Given the description of an element on the screen output the (x, y) to click on. 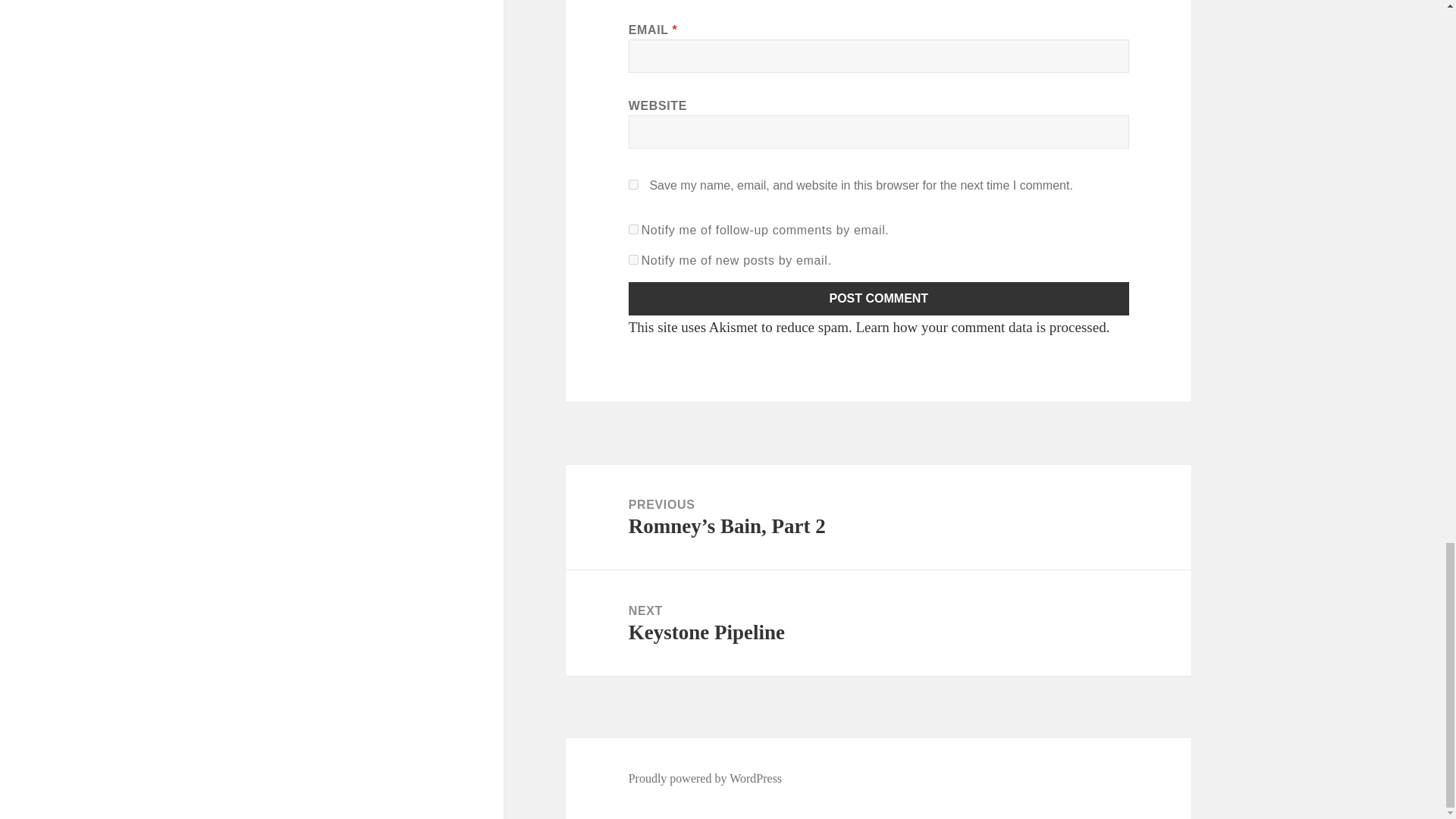
yes (633, 184)
subscribe (633, 229)
Post Comment (878, 298)
subscribe (633, 259)
